Given the description of an element on the screen output the (x, y) to click on. 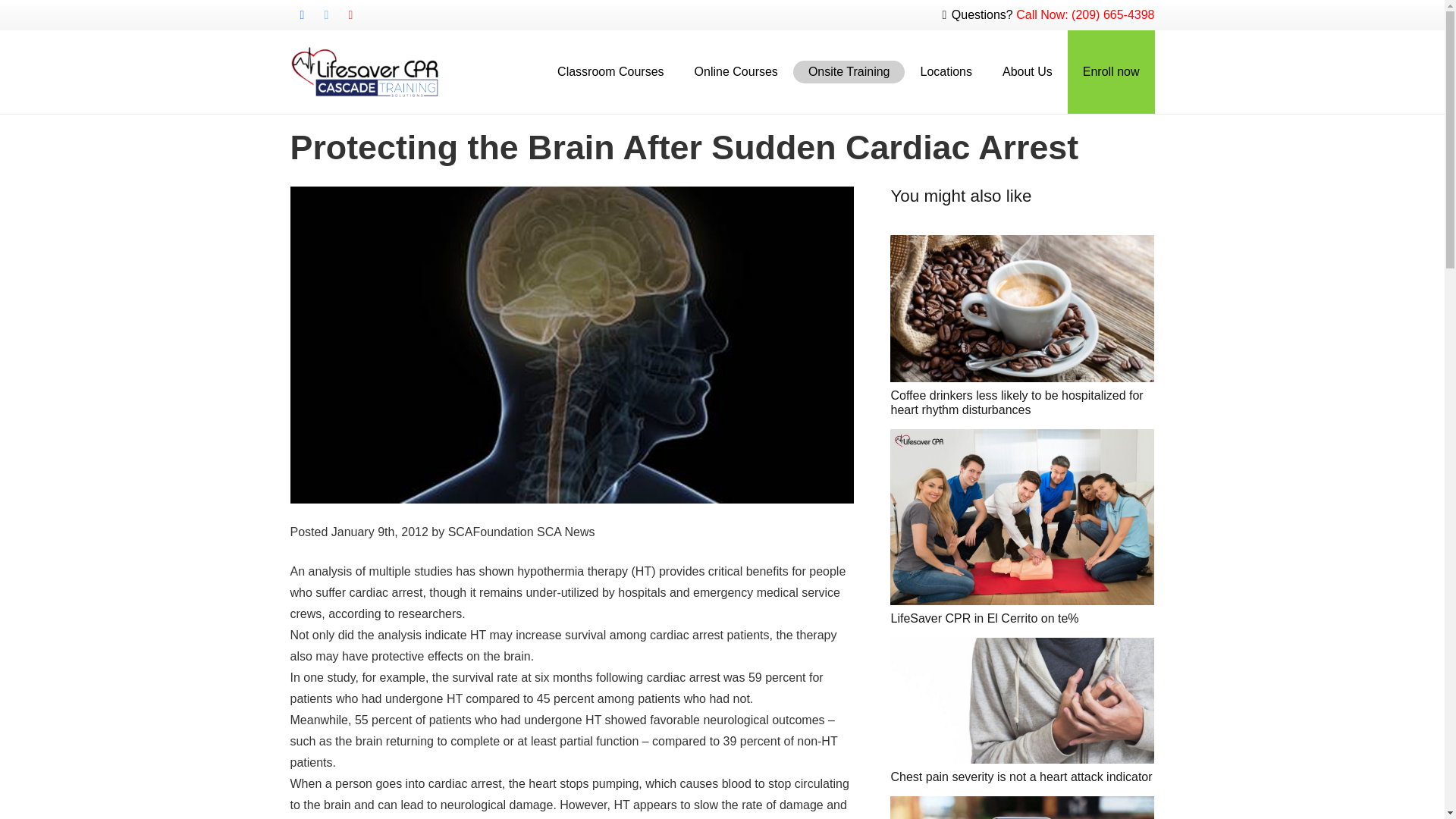
Facebook (301, 15)
Protecting the Brain After Sudden Cardiac Arrest (683, 146)
Onsite Training (849, 71)
Yelp (349, 15)
There is an app for that! 5 (1021, 807)
Online Courses (736, 71)
About Us (1027, 71)
Twitter (325, 15)
Classroom Courses (609, 71)
Enroll now (1110, 71)
Chest pain severity is not a heart attack indicator 4 (1021, 700)
Chest pain severity is not a heart attack indicator (1020, 776)
